Given the description of an element on the screen output the (x, y) to click on. 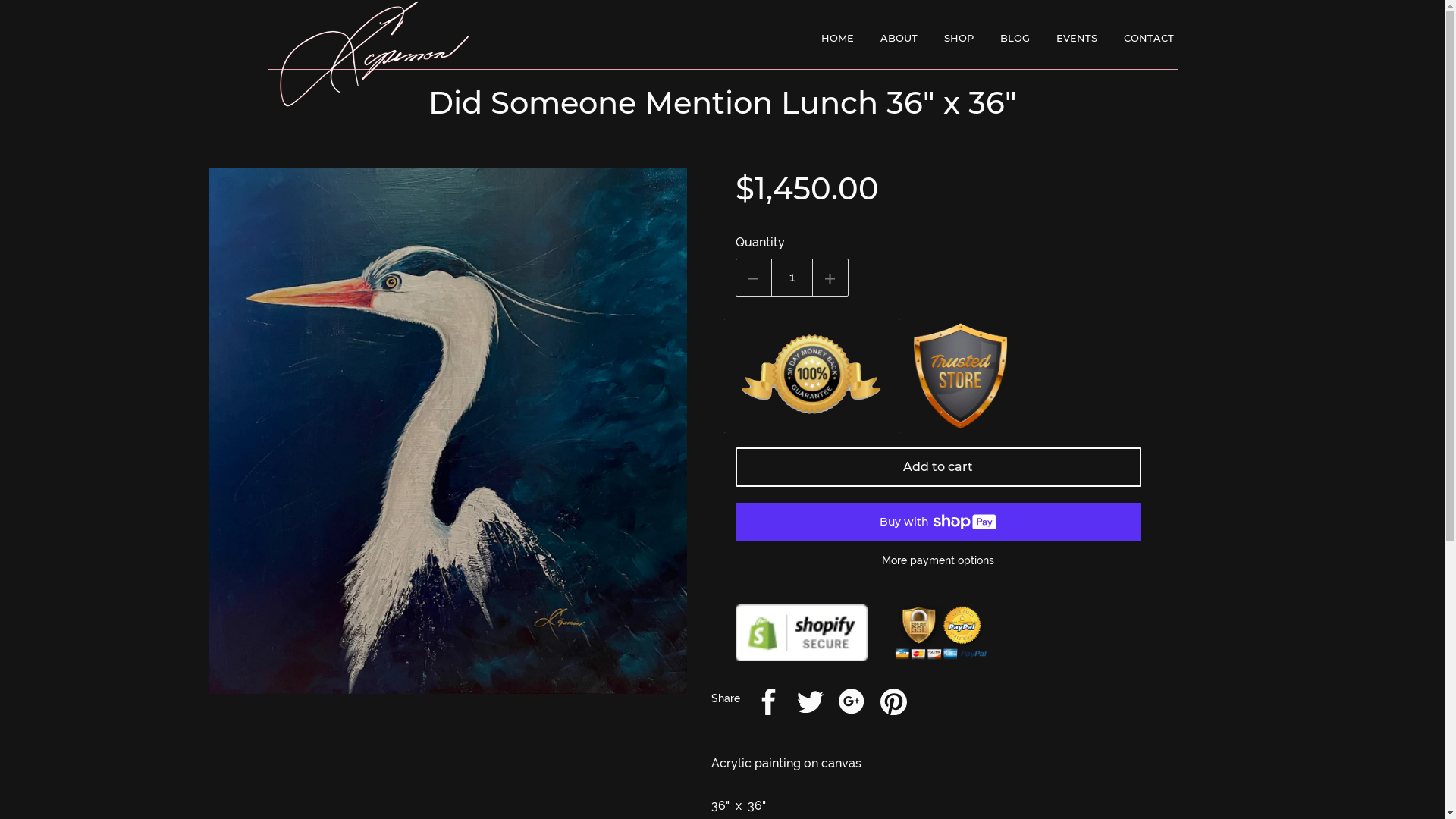
HOME Element type: text (838, 37)
Share on Pinterest Element type: text (893, 703)
Share on Google Element type: text (851, 703)
More payment options Element type: text (938, 560)
ABOUT Element type: text (899, 37)
This online store is secured by Shopify Element type: hover (801, 664)
CONTACT Element type: text (1150, 37)
BLOG Element type: text (1015, 37)
Add to cart Element type: text (938, 466)
EVENTS Element type: text (1077, 37)
Share on Facebook Element type: text (768, 703)
SHOP Element type: text (959, 37)
Share on Twitter Element type: text (810, 703)
